Given the description of an element on the screen output the (x, y) to click on. 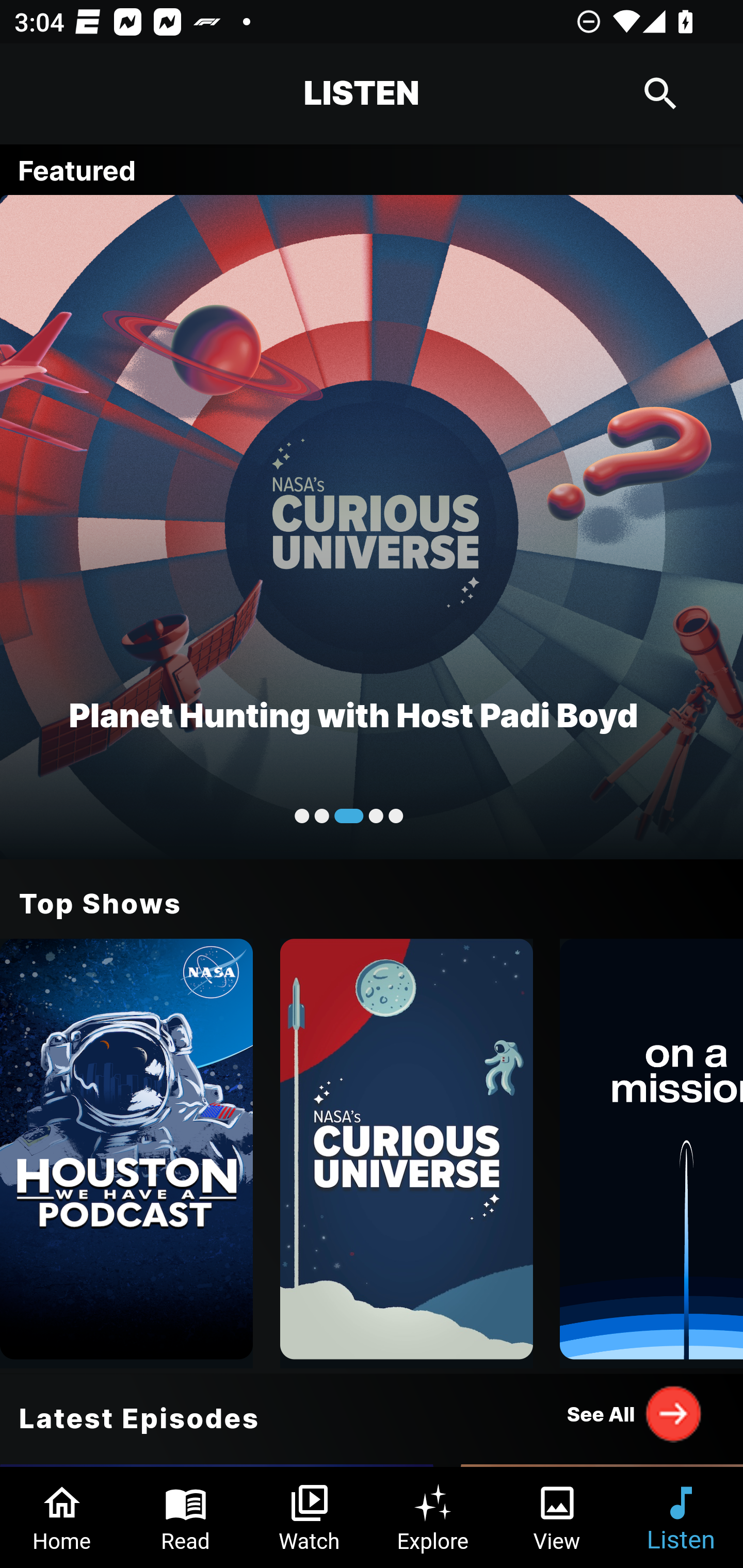
Planet Hunting with Host Padi Boyd (371, 526)
See All (634, 1413)
Home
Tab 1 of 6 (62, 1517)
Read
Tab 2 of 6 (185, 1517)
Watch
Tab 3 of 6 (309, 1517)
Explore
Tab 4 of 6 (433, 1517)
View
Tab 5 of 6 (556, 1517)
Listen
Tab 6 of 6 (680, 1517)
